Given the description of an element on the screen output the (x, y) to click on. 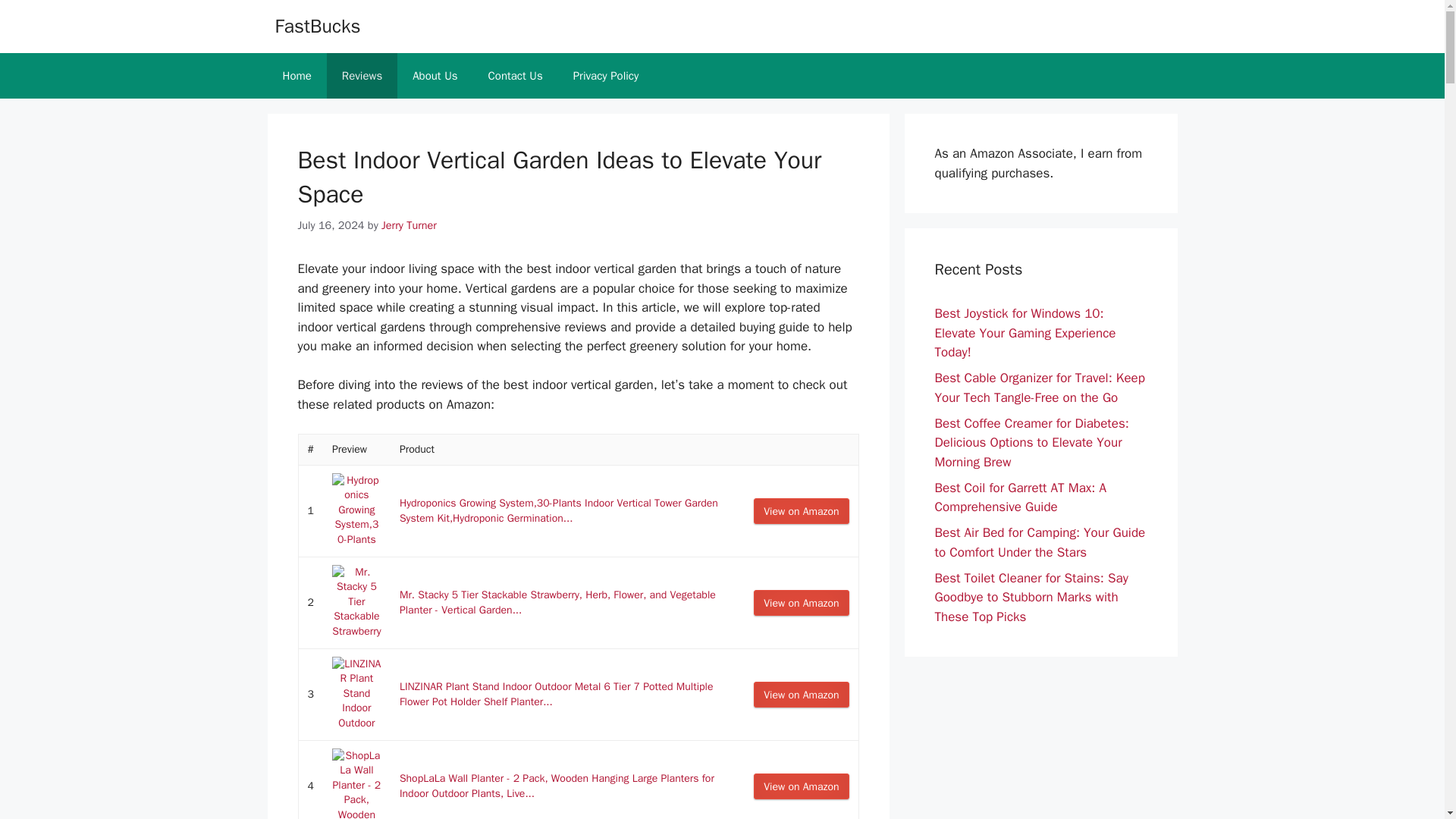
View on Amazon (801, 510)
View on Amazon (801, 694)
Contact Us (515, 75)
Privacy Policy (605, 75)
Jerry Turner (408, 224)
View on Amazon (801, 694)
View on Amazon (801, 602)
About Us (434, 75)
View on Amazon (801, 602)
View all posts by Jerry Turner (408, 224)
View on Amazon (801, 786)
Home (296, 75)
View on Amazon (801, 510)
Reviews (361, 75)
